Given the description of an element on the screen output the (x, y) to click on. 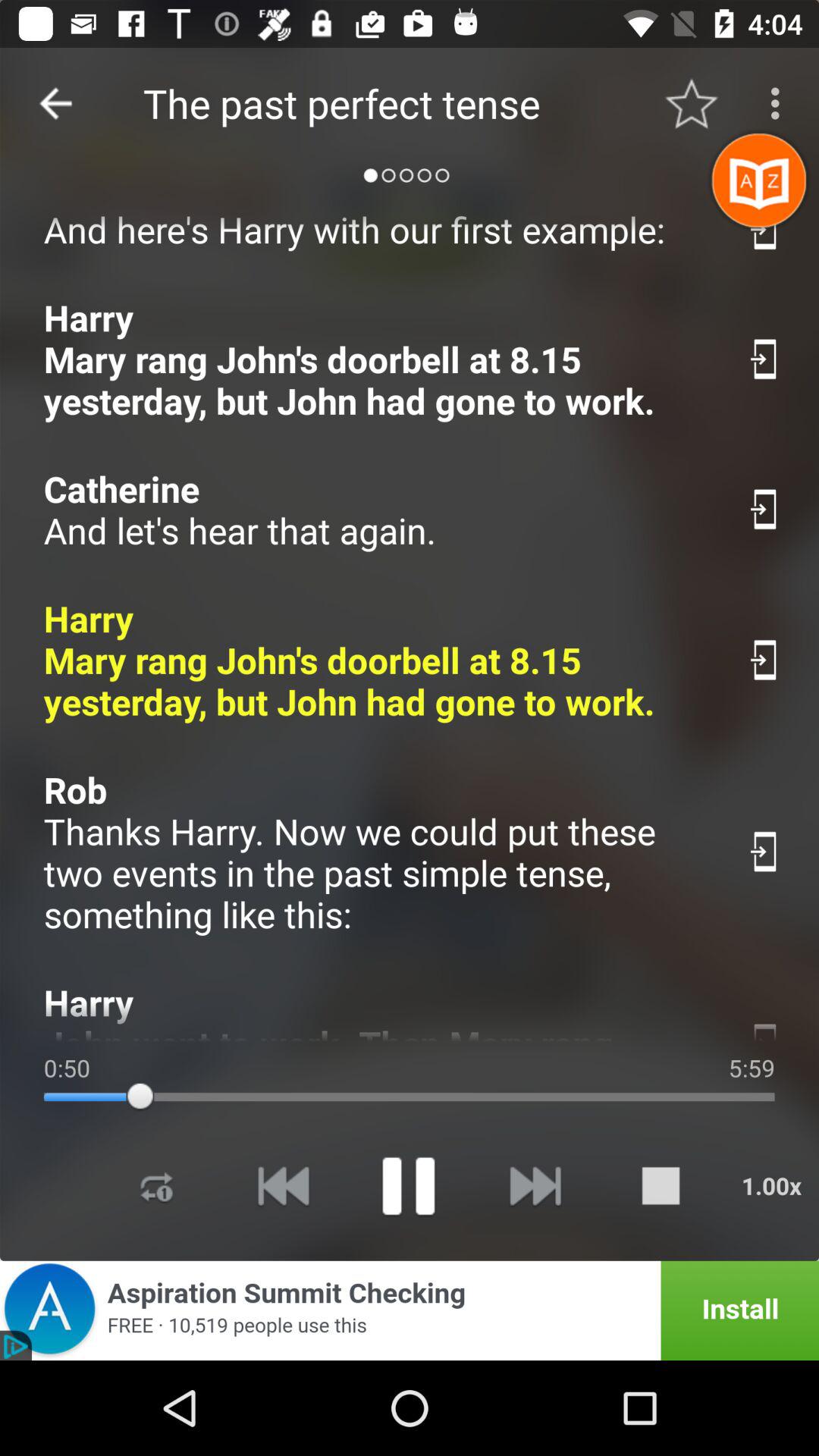
add something (408, 1185)
